Given the description of an element on the screen output the (x, y) to click on. 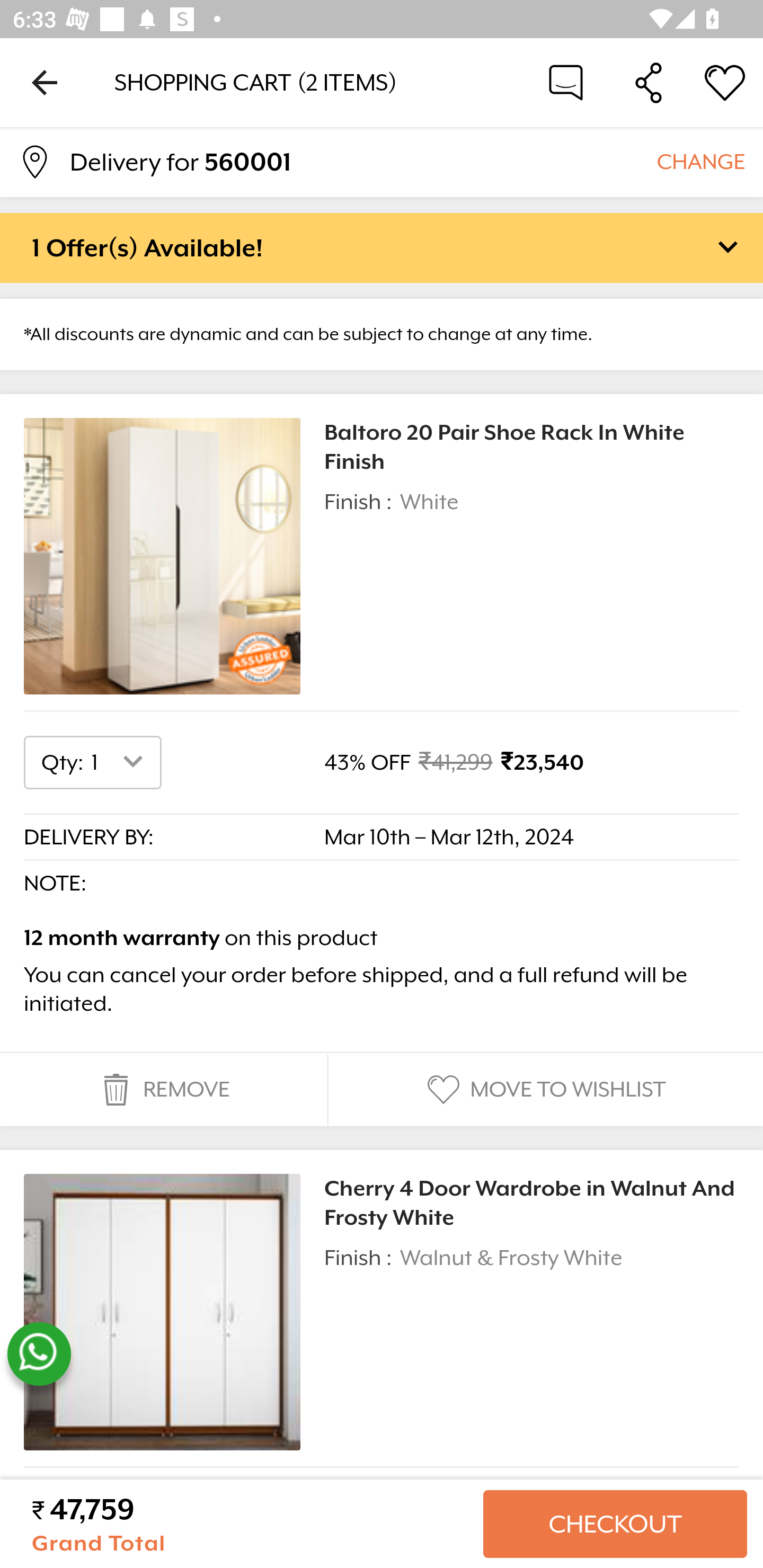
Navigate up (44, 82)
Chat (565, 81)
Share Cart (648, 81)
Wishlist (724, 81)
CHANGE (700, 161)
1 Offer(s) Available! (381, 247)
1 (121, 761)
REMOVE (163, 1089)
MOVE TO WISHLIST (544, 1089)
whatsapp (38, 1353)
₹ 47,759 Grand Total (250, 1523)
CHECKOUT (614, 1523)
